Given the description of an element on the screen output the (x, y) to click on. 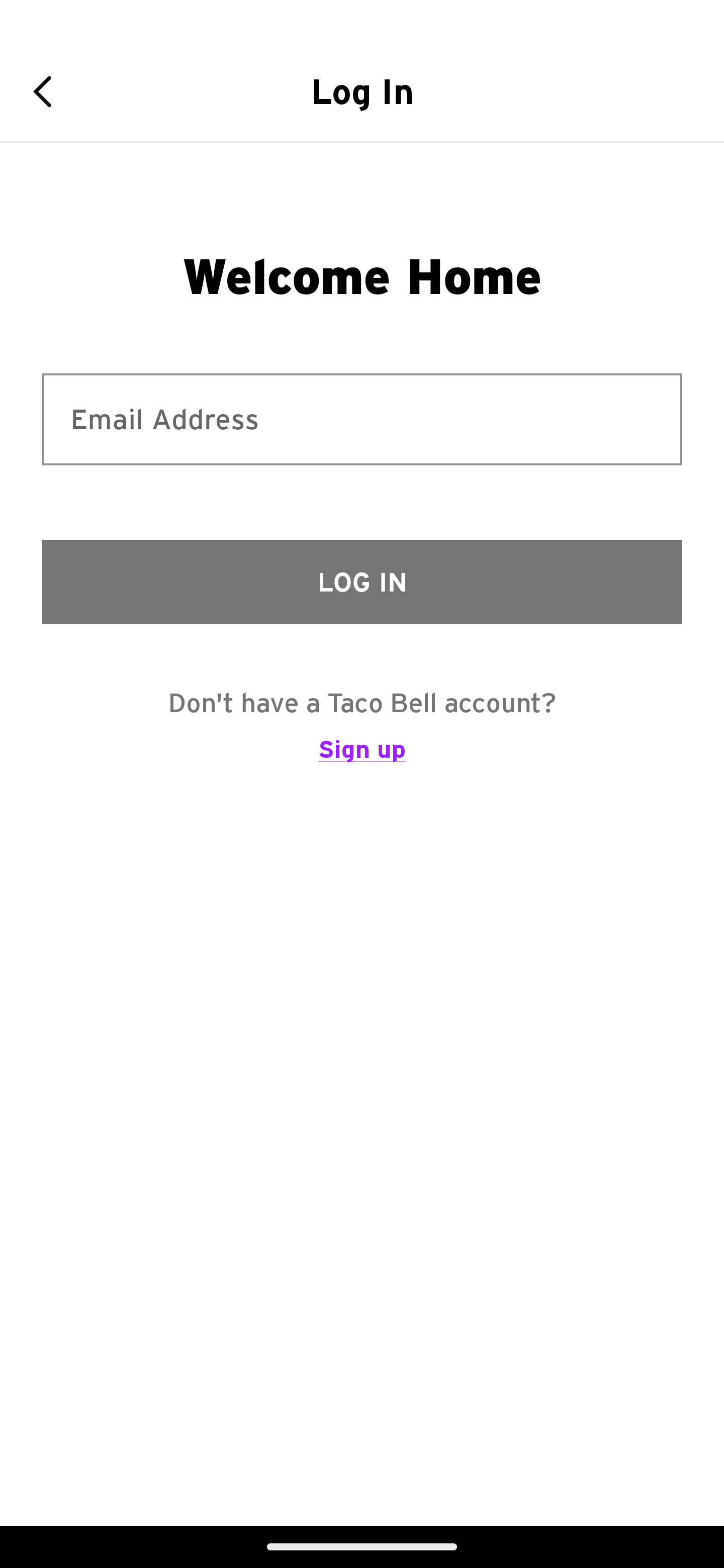
Navigate up (49, 91)
Email Address (361, 419)
LOG IN (361, 581)
Sign up (361, 757)
